Given the description of an element on the screen output the (x, y) to click on. 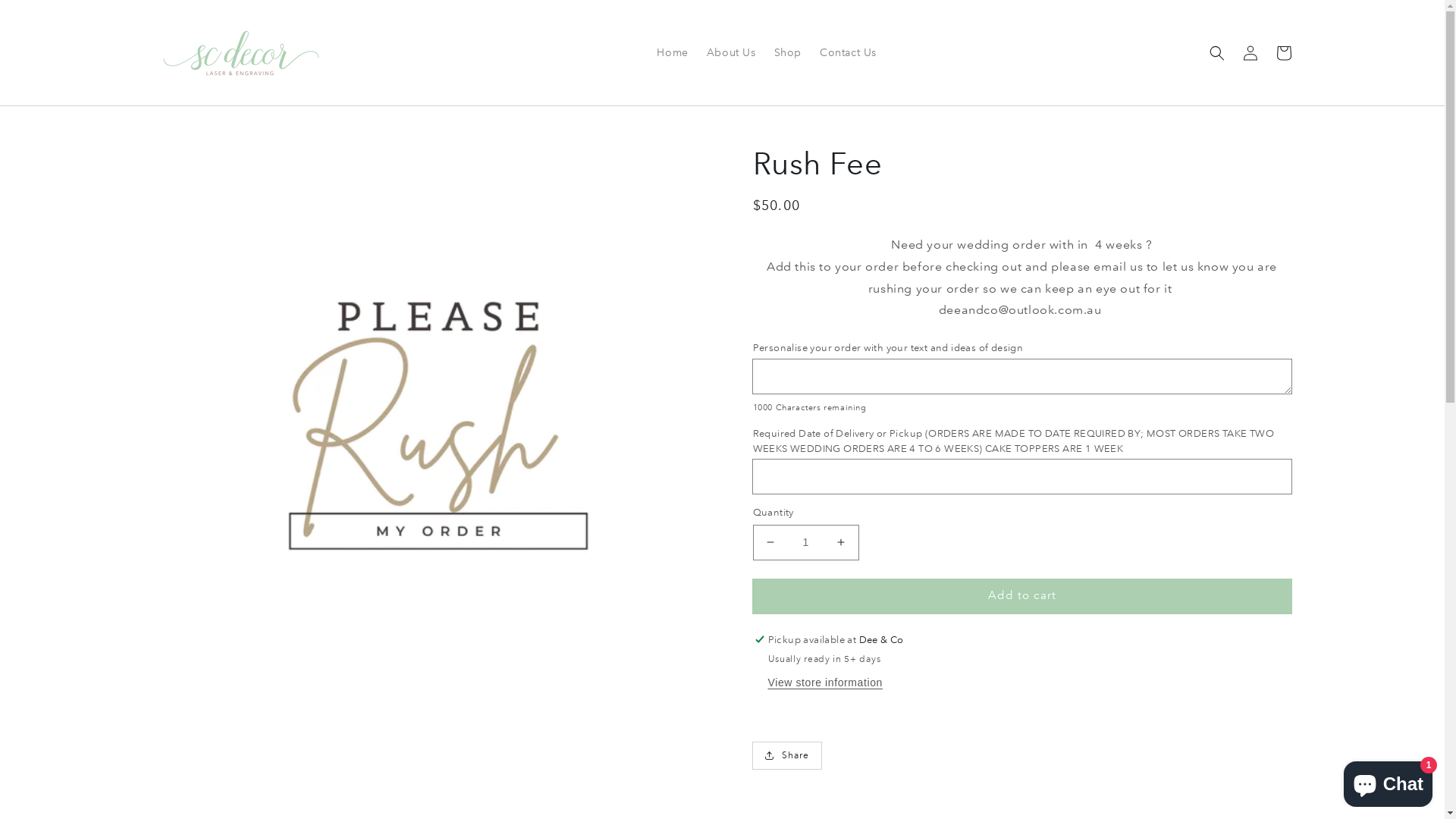
Increase quantity for Rush Fee Element type: text (840, 542)
Skip to product information Element type: text (198, 160)
Contact Us Element type: text (847, 52)
About Us Element type: text (731, 52)
Open media 1 in modal Element type: text (437, 428)
Cart Element type: text (1282, 52)
Shop Element type: text (787, 52)
View store information Element type: text (824, 683)
Add to cart Element type: text (1021, 596)
Home Element type: text (671, 52)
Log in Element type: text (1249, 52)
Decrease quantity for Rush Fee Element type: text (770, 542)
Shopify online store chat Element type: hover (1388, 780)
